Given the description of an element on the screen output the (x, y) to click on. 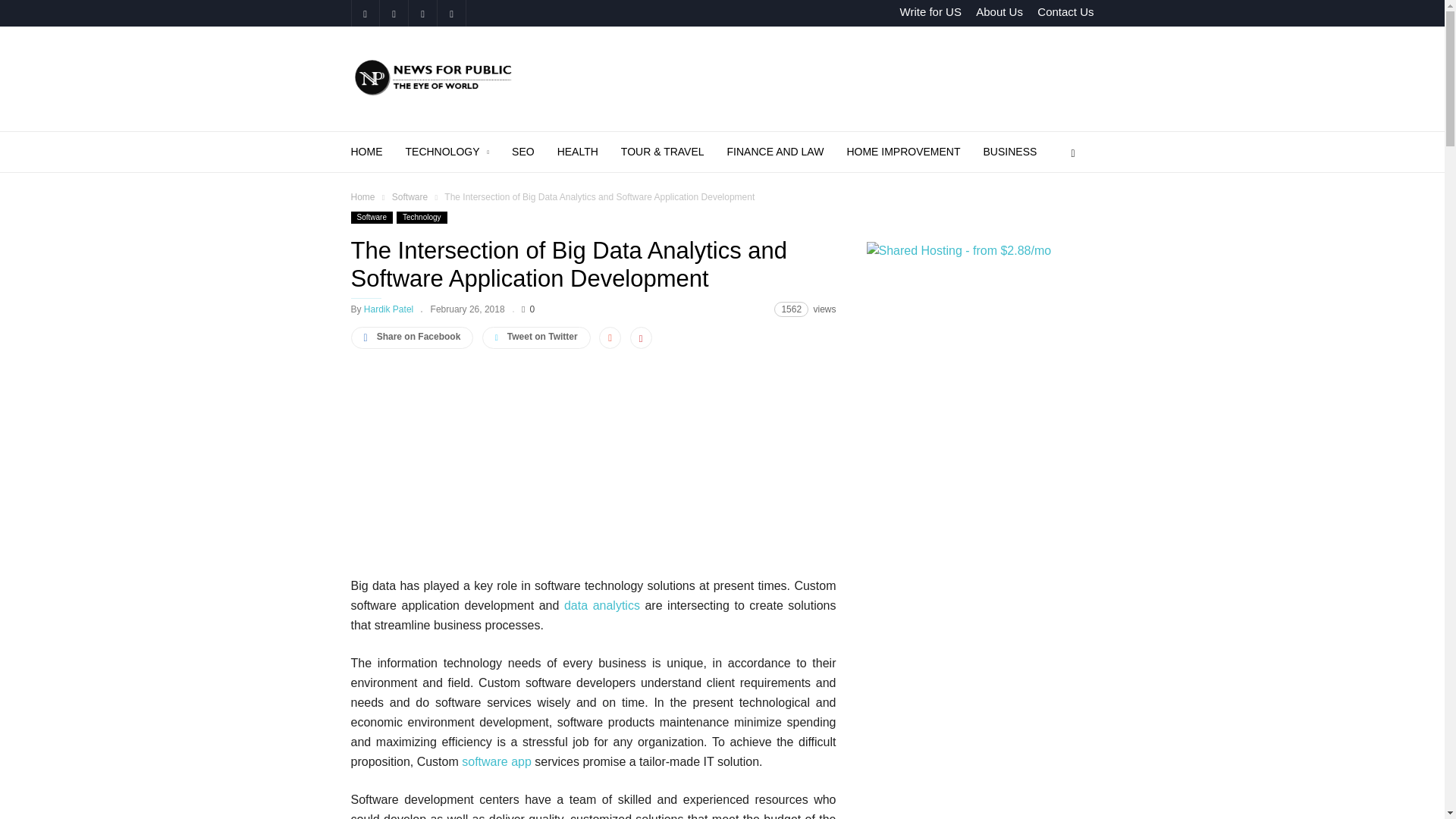
View all posts in Software (409, 196)
Pinterest (392, 13)
Advertisement (817, 79)
Write for US (929, 11)
HOME (377, 151)
RSS (421, 13)
HOME IMPROVEMENT (913, 151)
TECHNOLOGY (458, 151)
About Us (999, 11)
FINANCE AND LAW (786, 151)
Contact Us (1064, 11)
Facebook (364, 13)
SEO (534, 151)
HEALTH (589, 151)
Advertisement (592, 469)
